Given the description of an element on the screen output the (x, y) to click on. 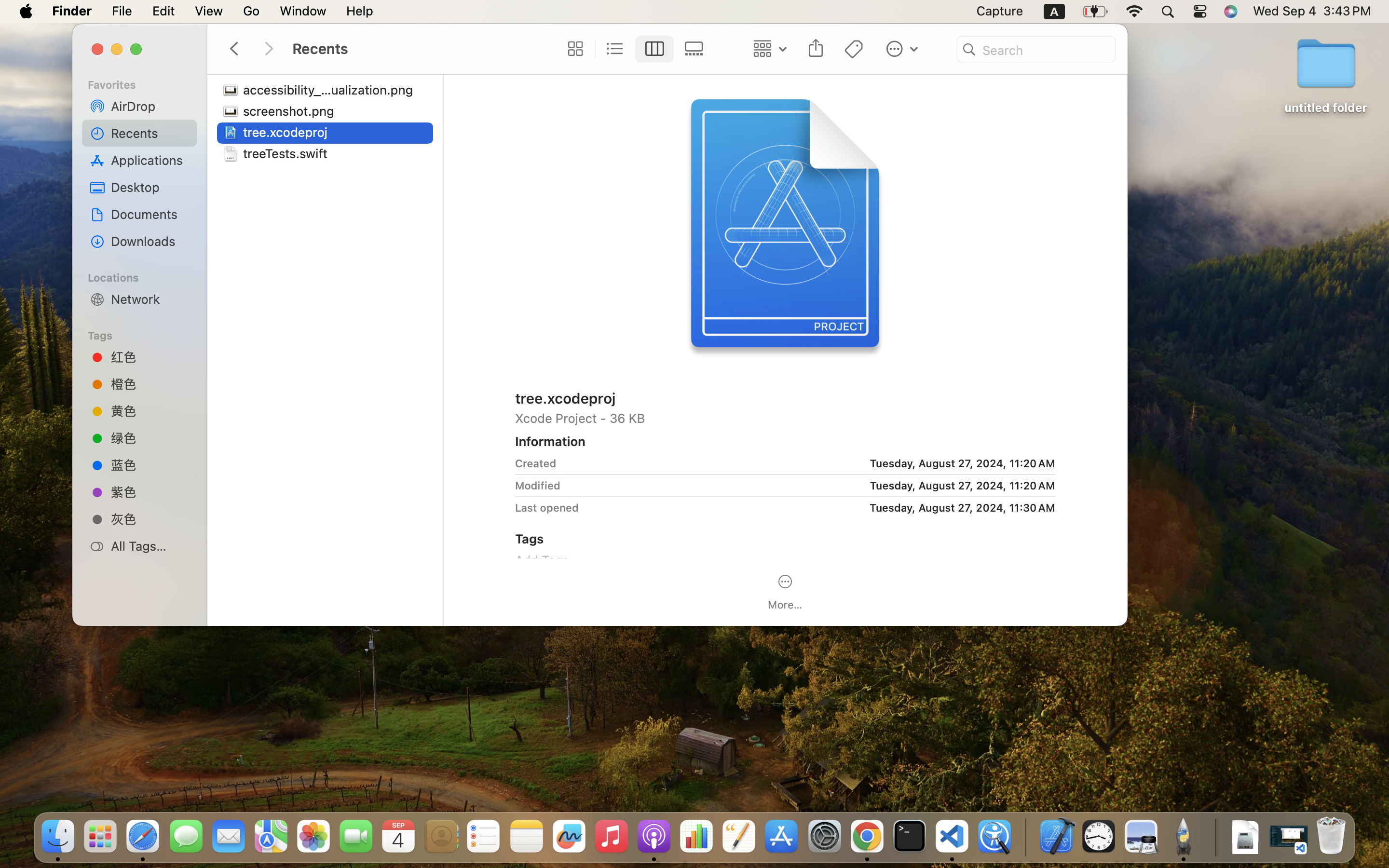
灰色 Element type: AXStaticText (149, 518)
蓝色 Element type: AXStaticText (149, 464)
accessibility_visualization.png Element type: AXTextField (330, 89)
Downloads Element type: AXStaticText (149, 240)
Desktop Element type: AXStaticText (149, 186)
